Given the description of an element on the screen output the (x, y) to click on. 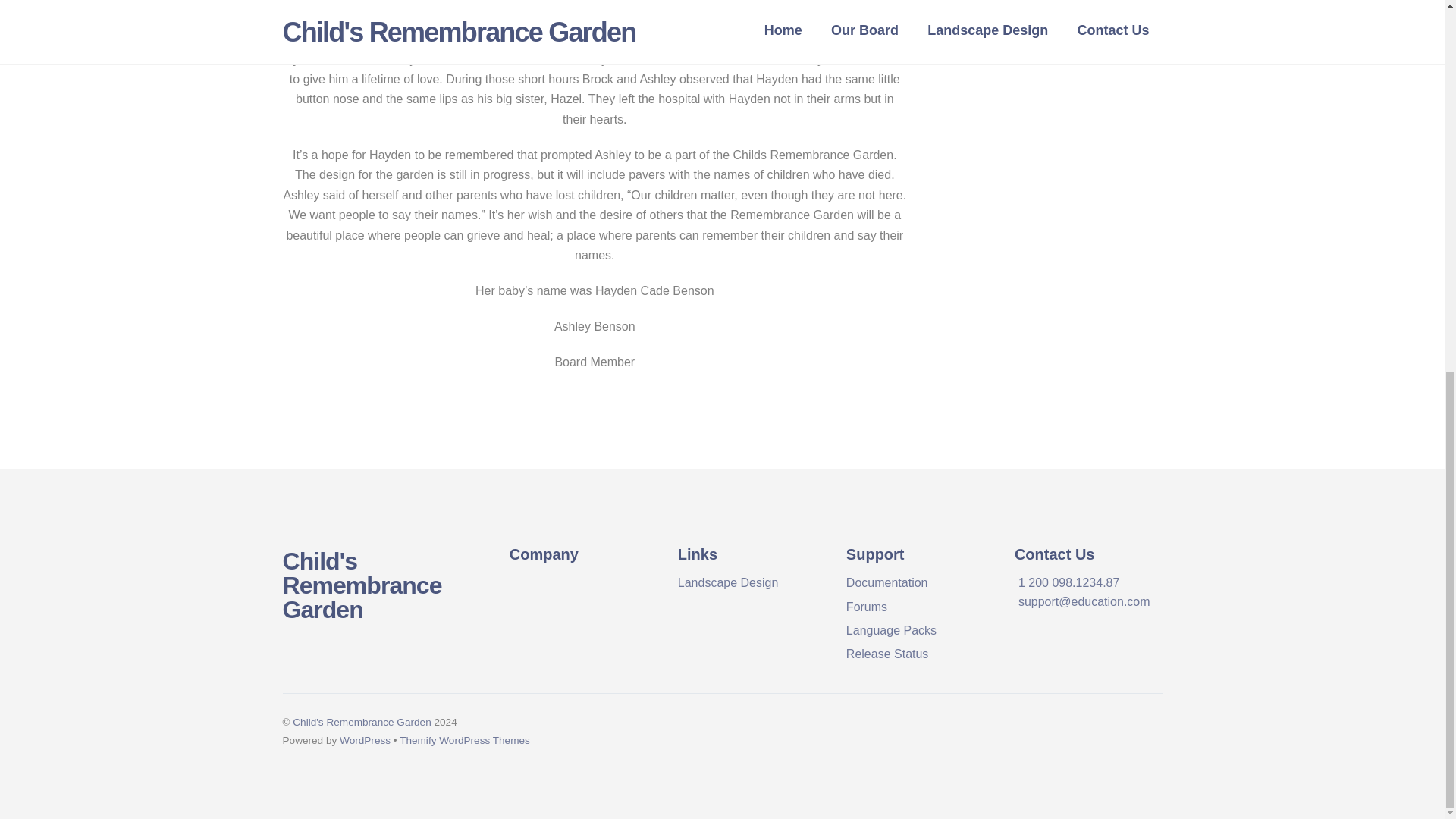
Themify WordPress Themes (463, 740)
1 200 098.1234.87 (1068, 582)
Language Packs (890, 630)
Forums (865, 606)
WordPress (364, 740)
Documentation (886, 582)
Child's Remembrance Garden (361, 722)
Child's Remembrance Garden (361, 585)
Release Status (886, 653)
Child's Remembrance Garden (361, 585)
